Given the description of an element on the screen output the (x, y) to click on. 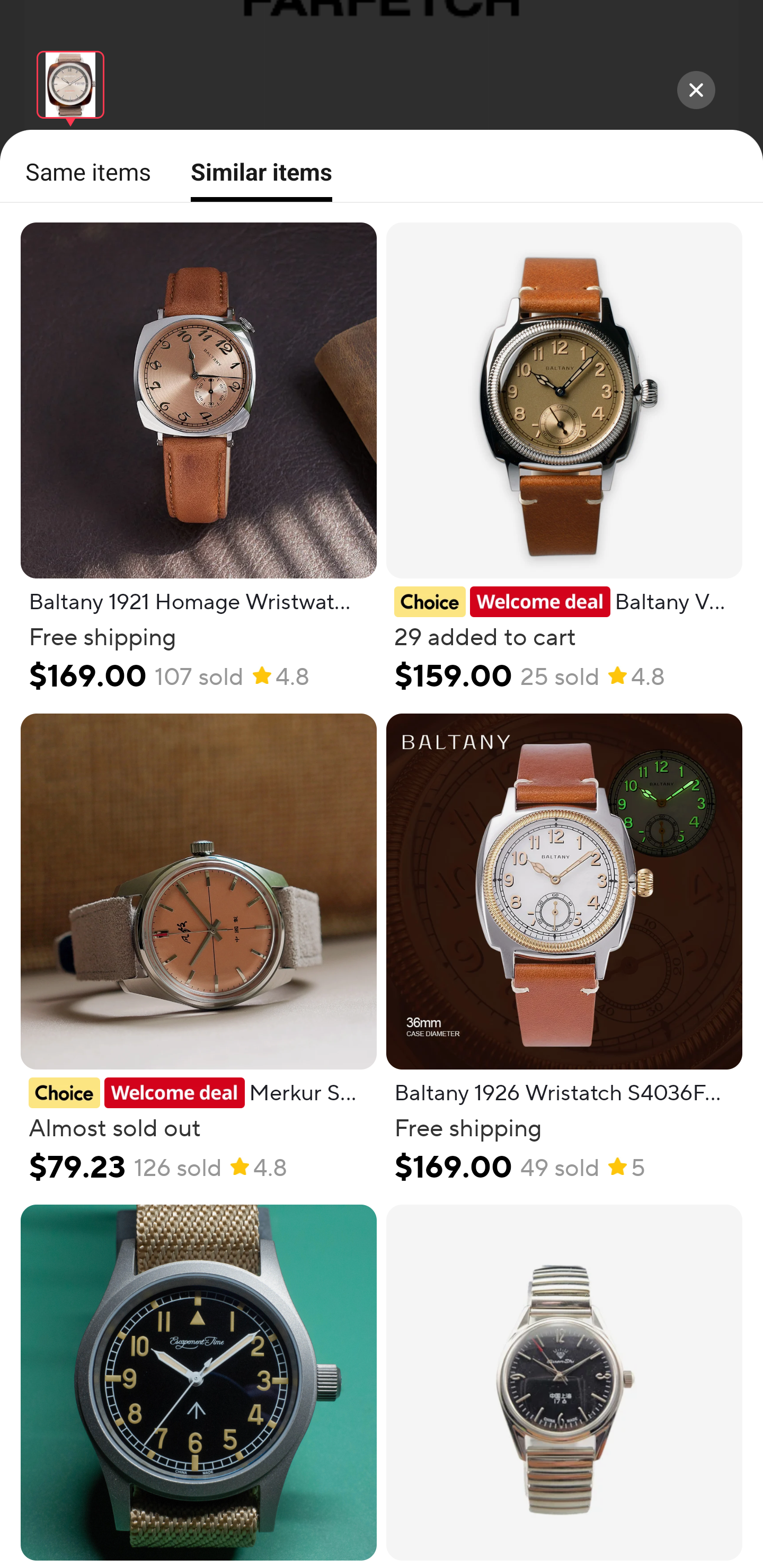
Same items (82, 171)
Similar items (255, 178)
